Given the description of an element on the screen output the (x, y) to click on. 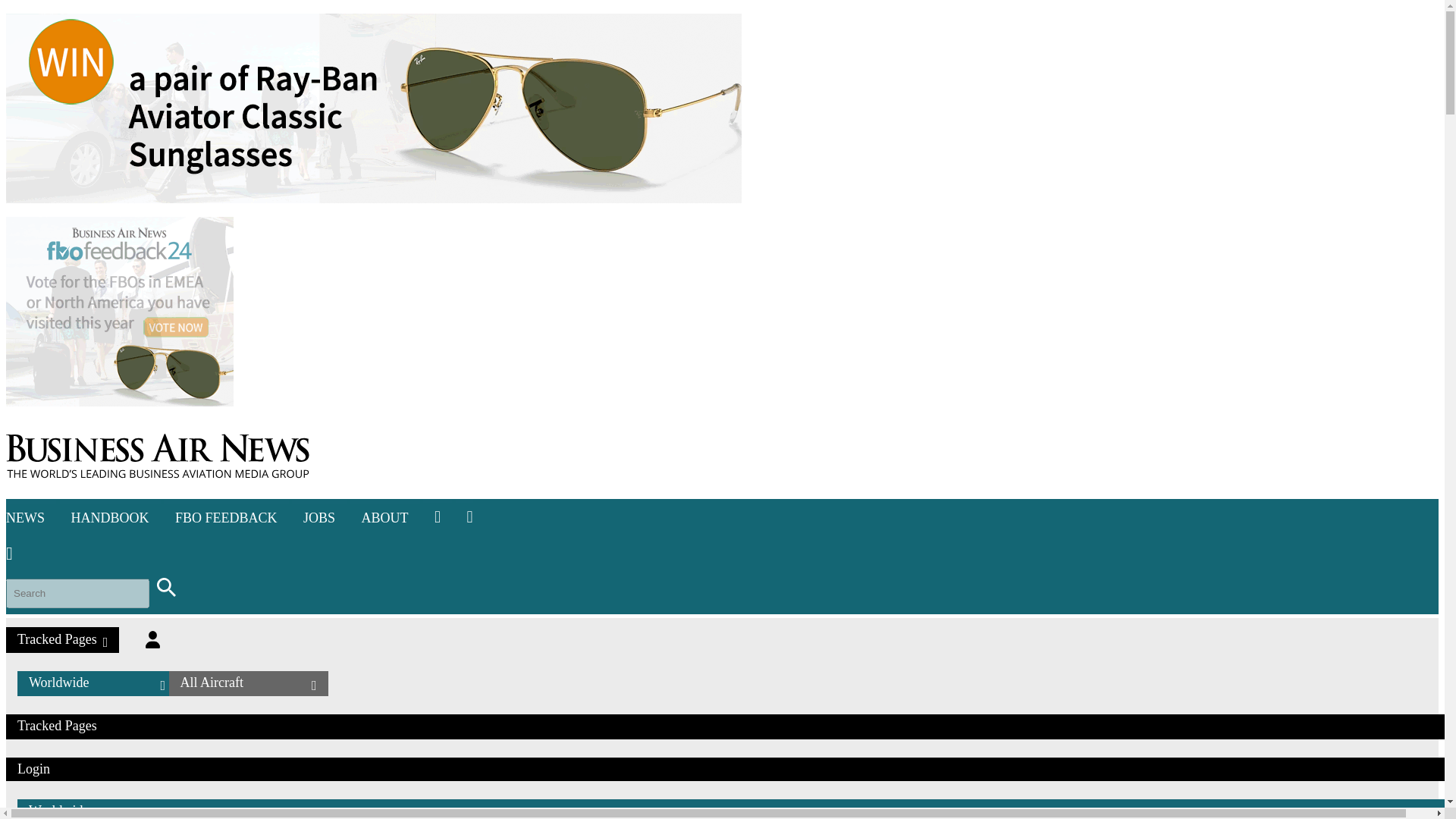
Search (164, 587)
ABOUT (385, 517)
JOBS (318, 517)
Login (152, 638)
FBO FEEDBACK (226, 517)
Business Air News (156, 457)
